Given the description of an element on the screen output the (x, y) to click on. 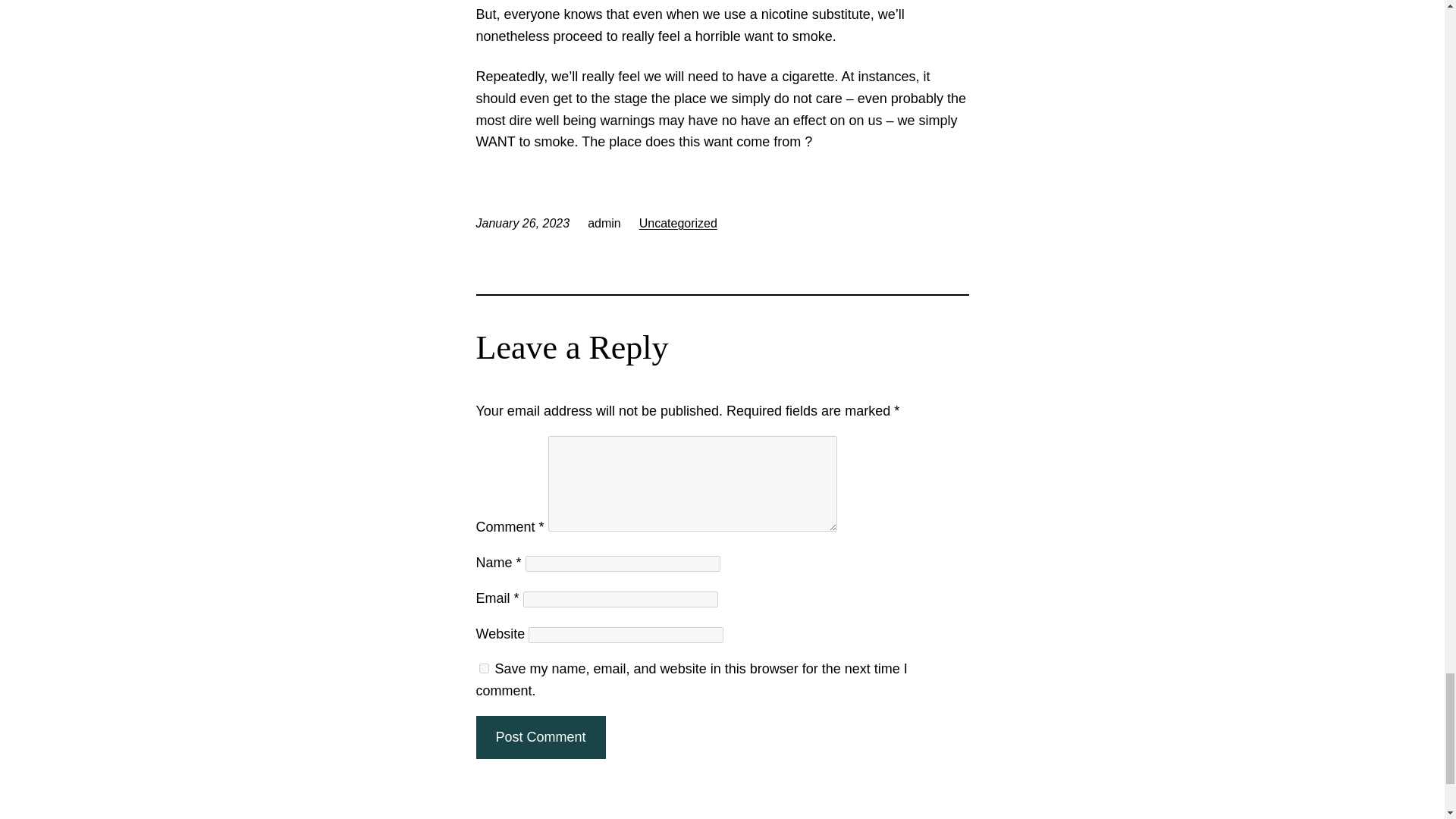
yes (484, 668)
Post Comment (540, 737)
Post Comment (540, 737)
Uncategorized (678, 223)
